Given the description of an element on the screen output the (x, y) to click on. 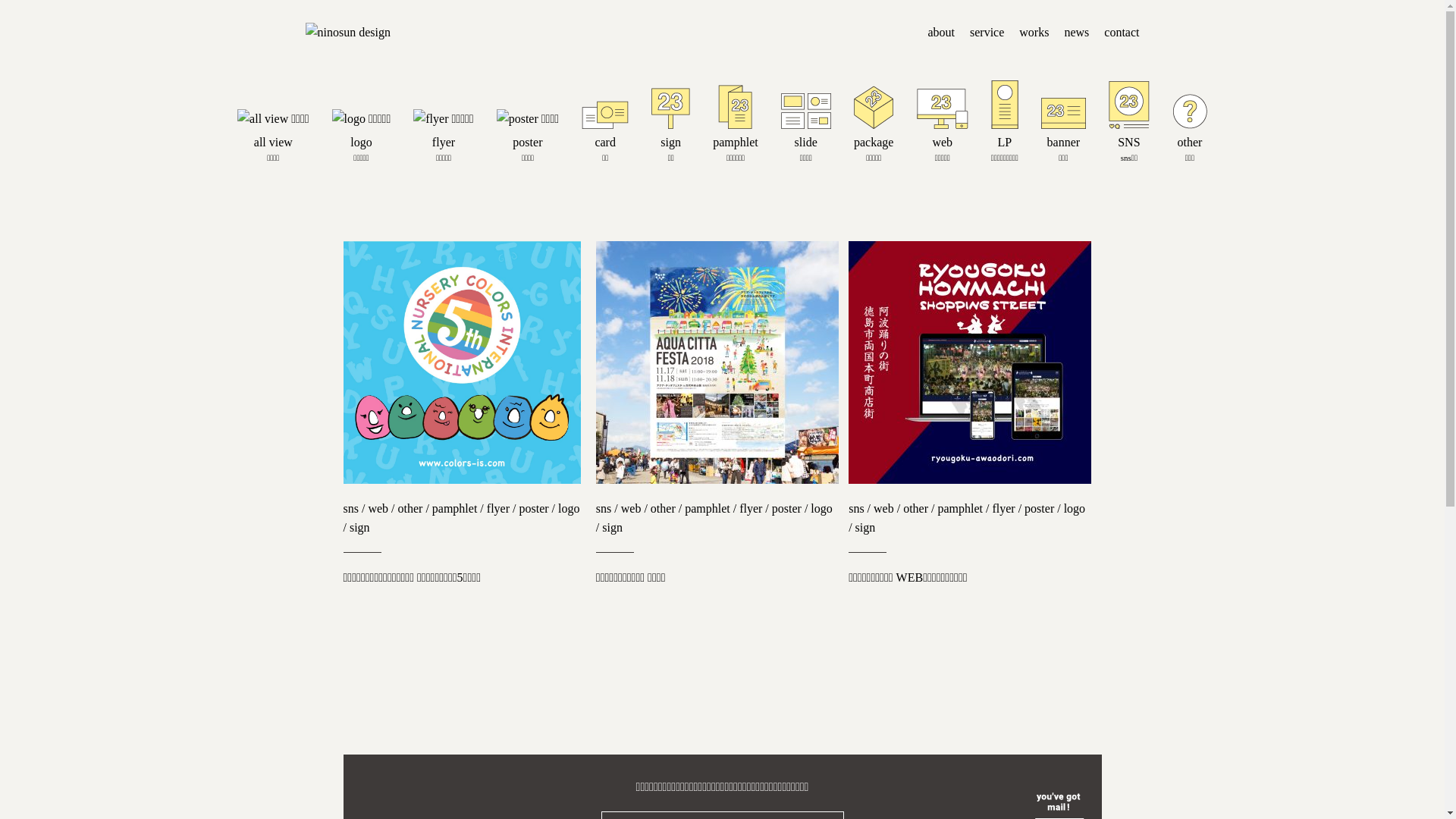
about Element type: text (940, 31)
service Element type: text (986, 31)
contact Element type: text (1121, 31)
news Element type: text (1075, 31)
works Element type: text (1033, 31)
